Given the description of an element on the screen output the (x, y) to click on. 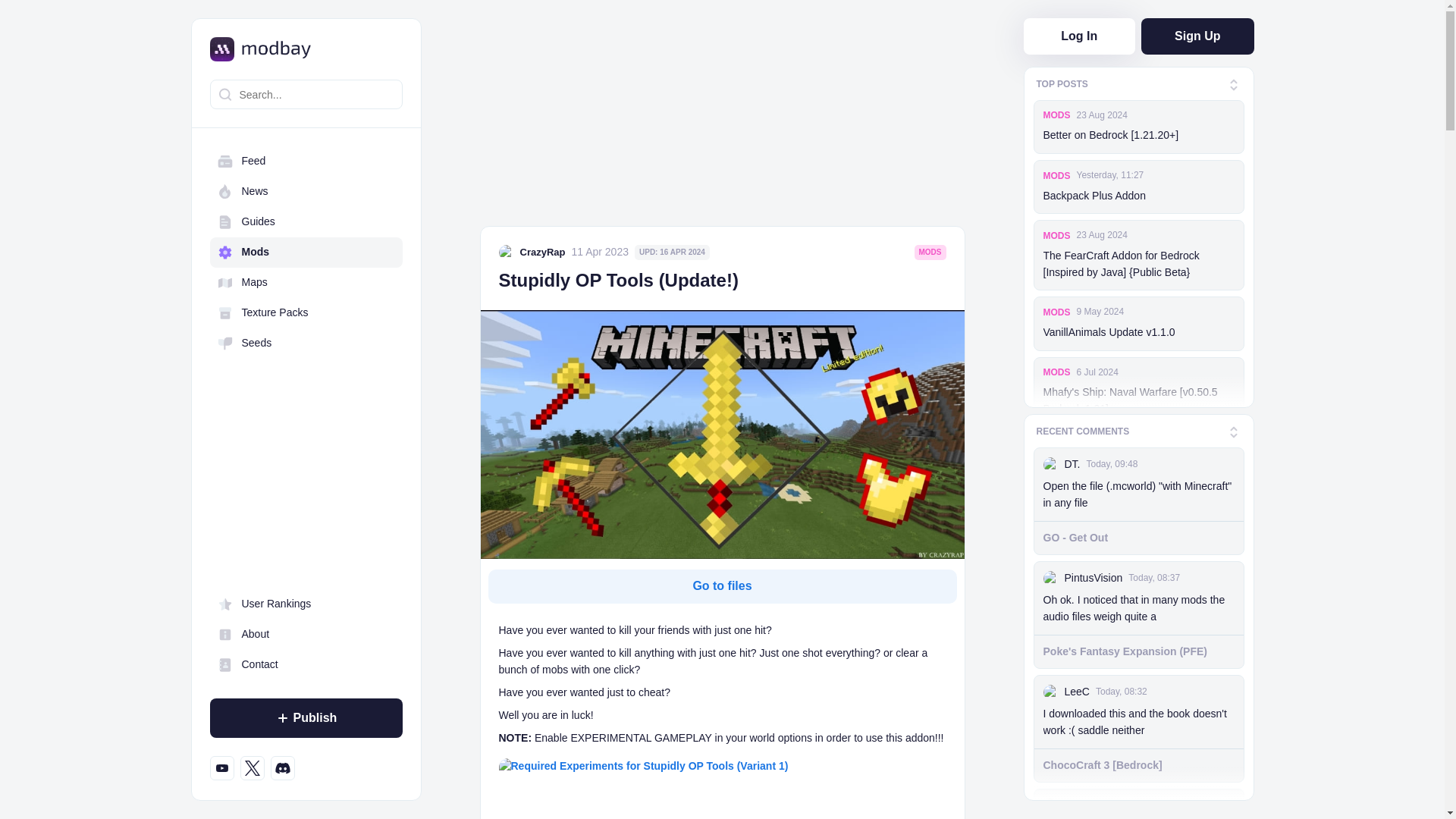
Contact (305, 665)
Go to files (721, 586)
MODS (1056, 114)
Publish (305, 717)
Backpack Plus Addon (1138, 196)
User Rankings (305, 603)
Sign Up (1197, 36)
News (305, 191)
About (305, 634)
MODS (1056, 175)
